Given the description of an element on the screen output the (x, y) to click on. 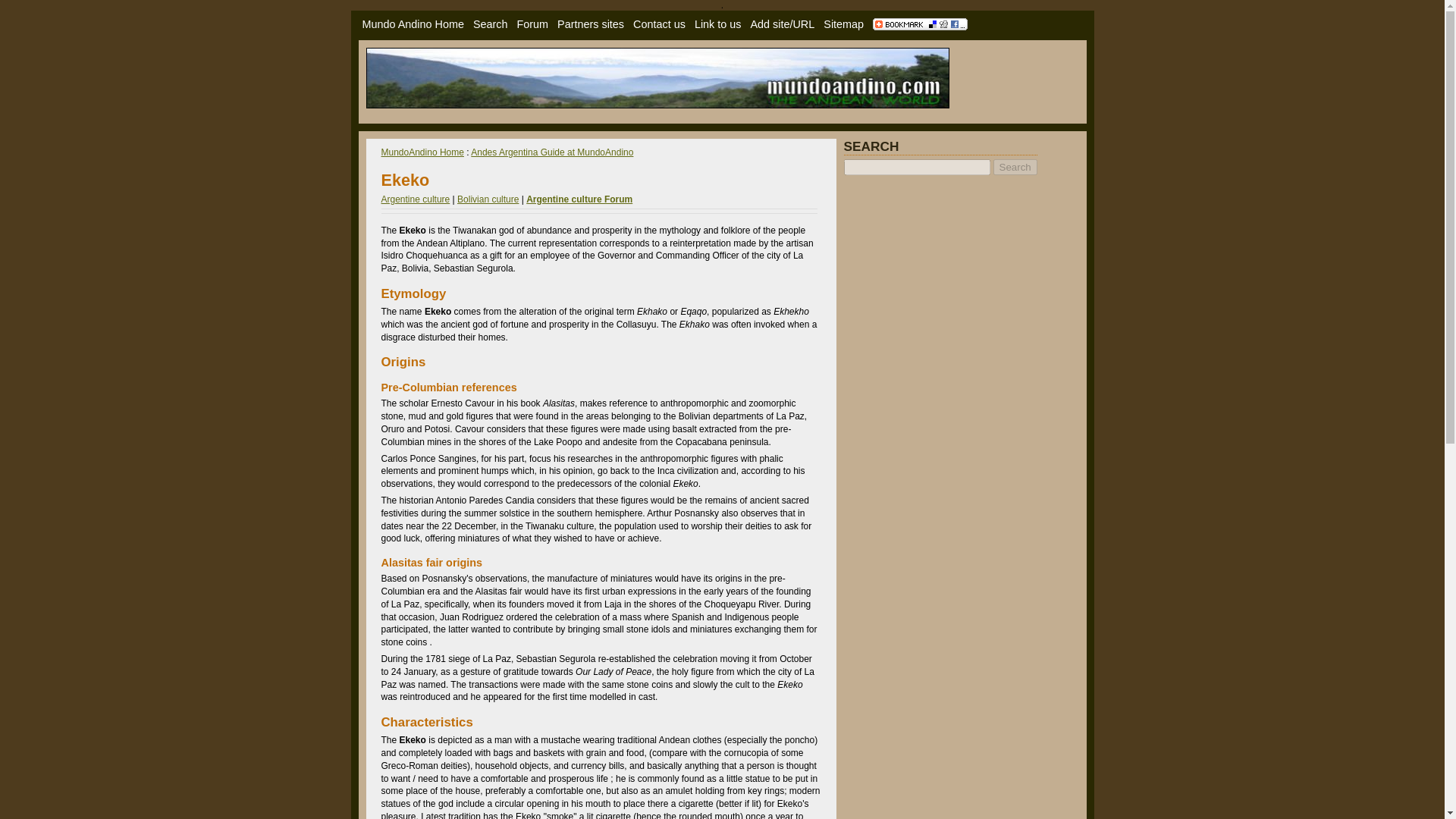
Home (413, 24)
Sitemap (843, 24)
Contact us (659, 24)
Partners sites (590, 24)
Argentine culture Forum (578, 199)
Link to us (717, 24)
link to us (717, 24)
contact us (659, 24)
Forum (532, 24)
search (490, 24)
